Given the description of an element on the screen output the (x, y) to click on. 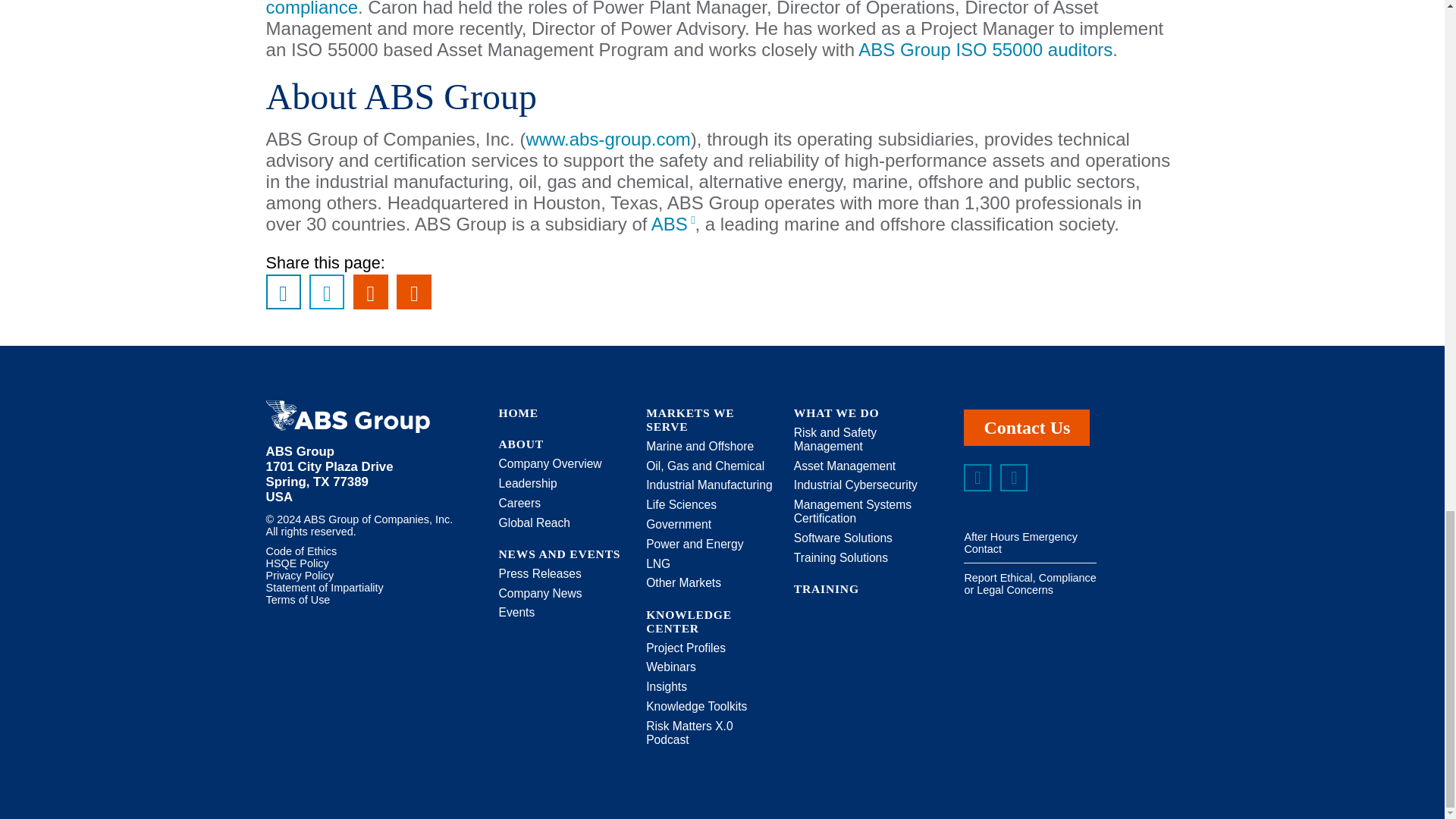
Twitter (1013, 477)
Share this page on LinkedIn (283, 291)
Print this page (413, 291)
Share this page on Twitter (325, 291)
Share this page via Email (370, 291)
Linkedin (977, 477)
